Given the description of an element on the screen output the (x, y) to click on. 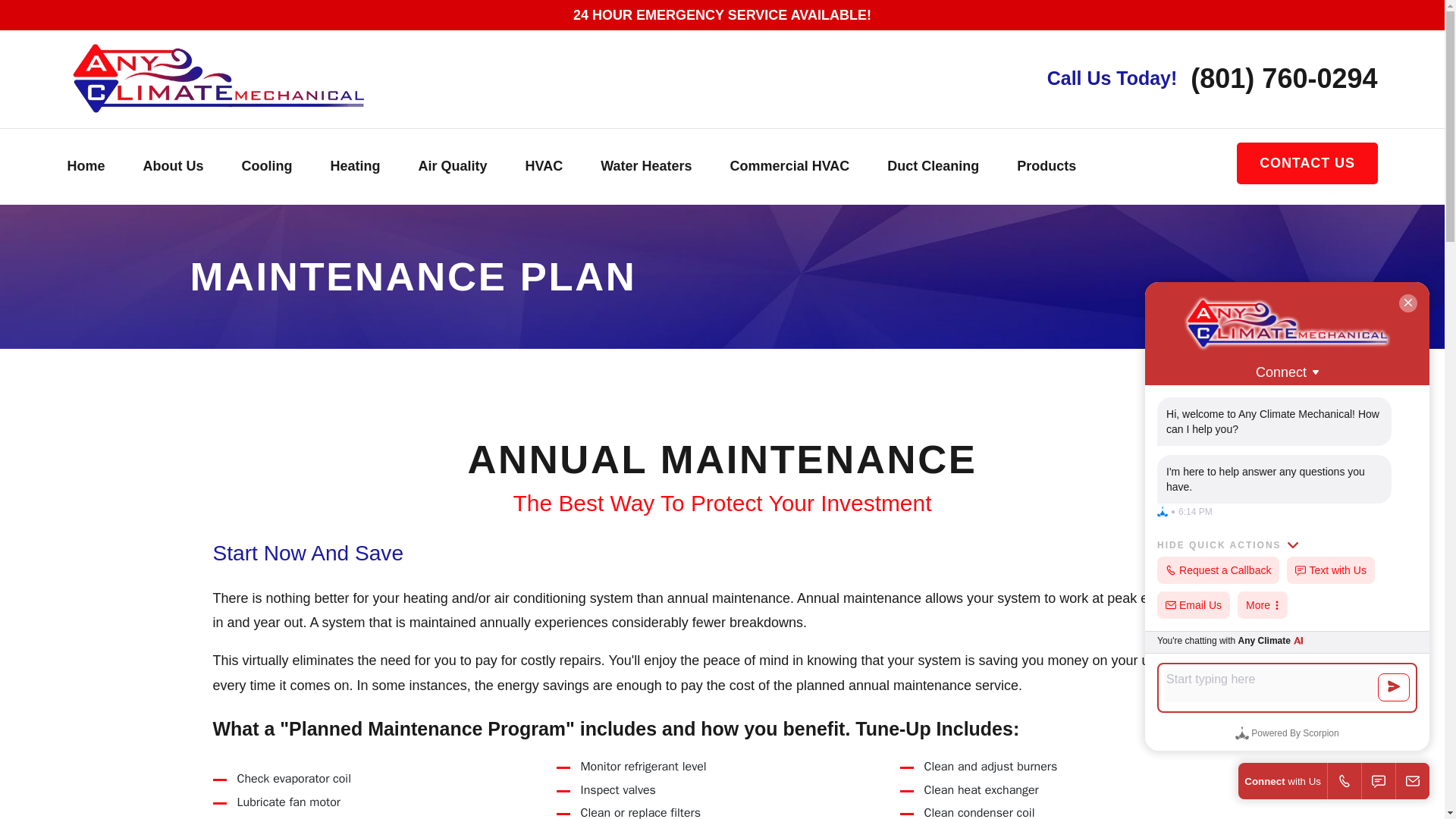
Air Quality (453, 166)
Cooling (266, 166)
Heating (355, 166)
About Us (172, 166)
Home (85, 166)
Home (217, 77)
HVAC (544, 166)
